Given the description of an element on the screen output the (x, y) to click on. 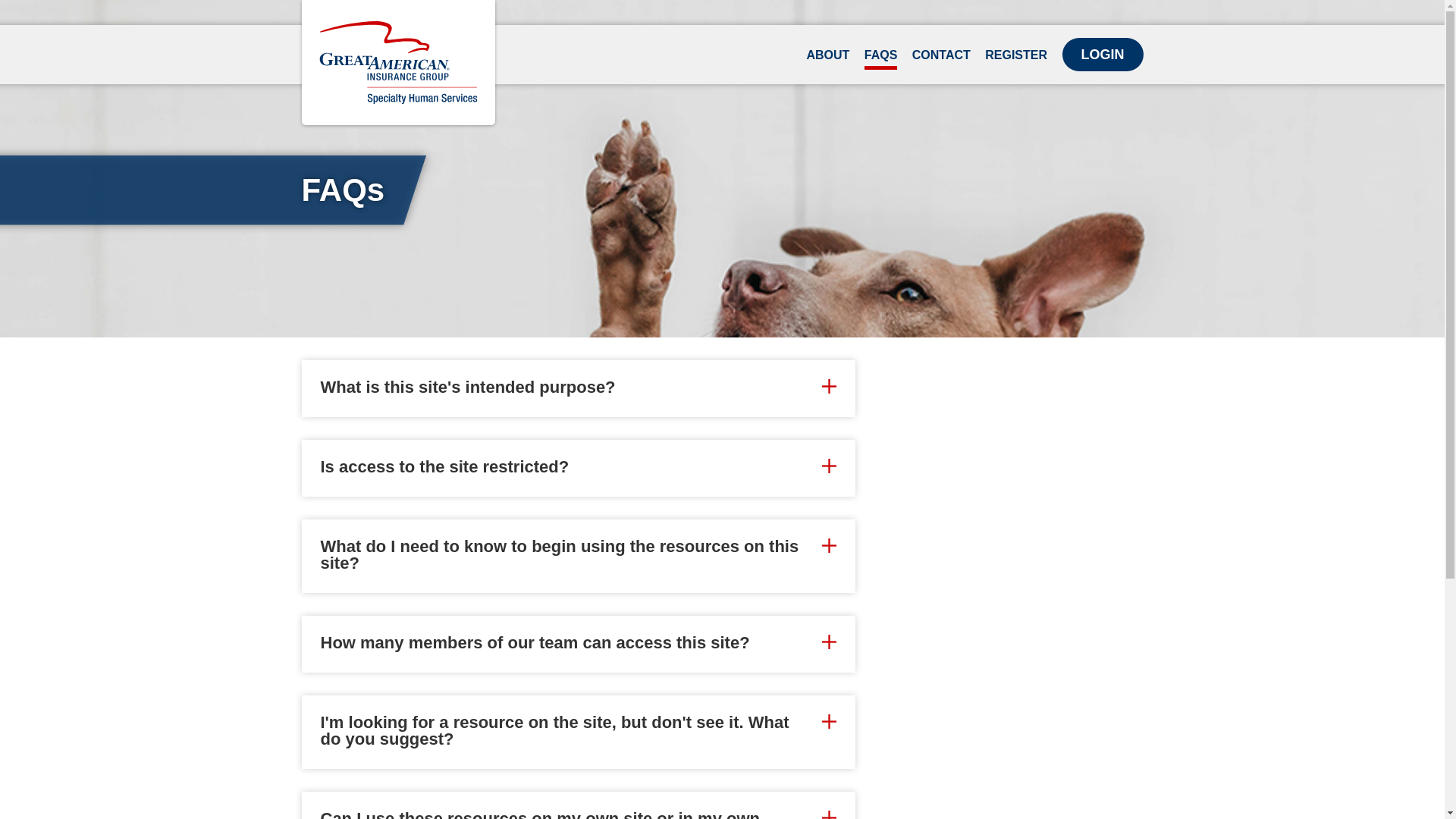
Is access to the site restricted? (577, 466)
What is this site's intended purpose? (577, 387)
How many members of our team can access this site? (577, 642)
REGISTER (1015, 59)
FAQS (881, 59)
CONTACT (941, 59)
ABOUT (827, 59)
LOGIN (1101, 54)
